Given the description of an element on the screen output the (x, y) to click on. 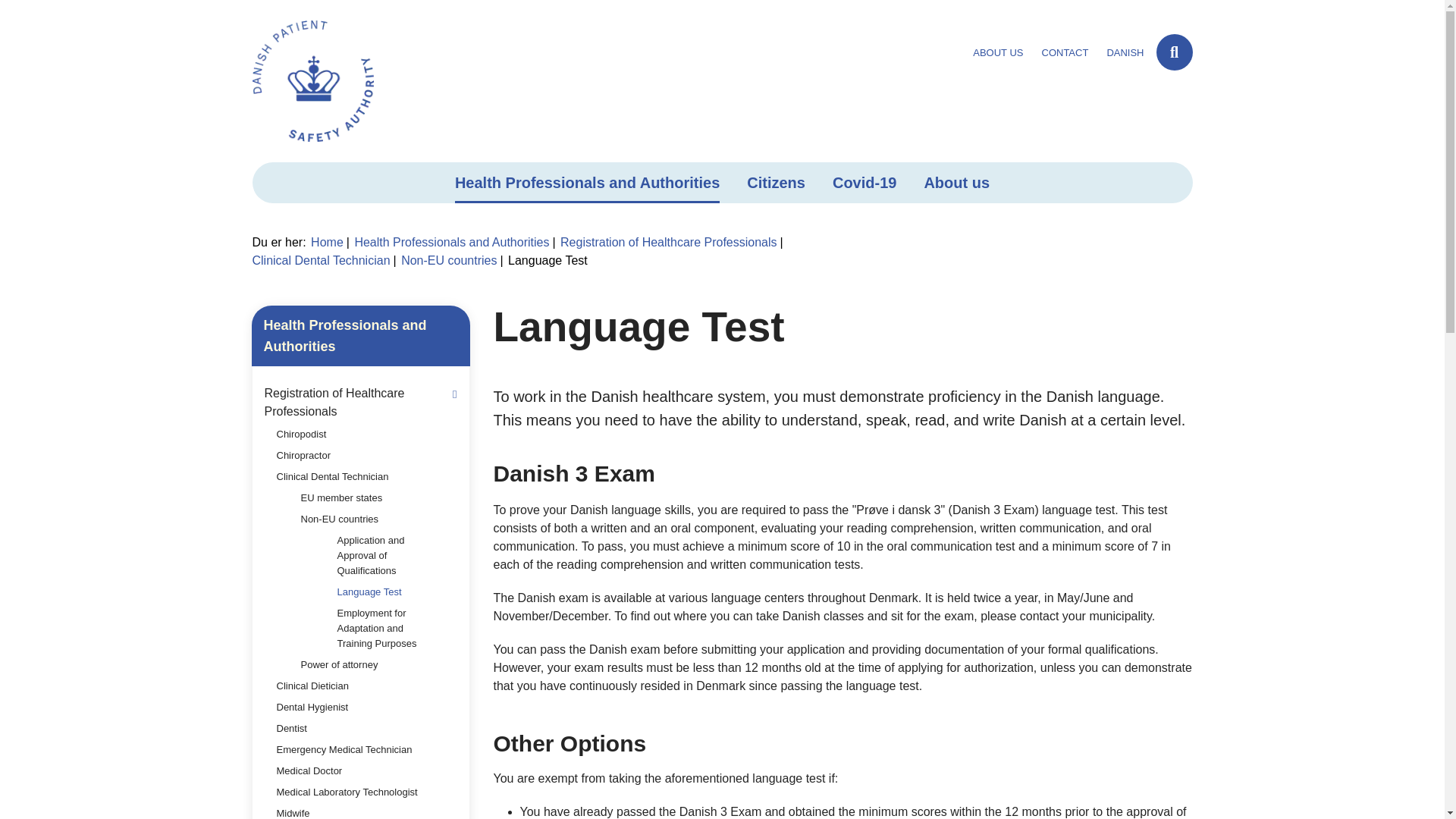
About us (956, 182)
Application and Approval of Qualifications (396, 555)
Clinical Dental Technician (323, 259)
Home (330, 241)
DANISH (1124, 52)
Registration of Healthcare Professionals (671, 241)
Clinical Dental Technician (341, 476)
Health Professionals and Authorities (453, 241)
EU member states (349, 497)
Covid-19 (864, 182)
ABOUT US (997, 52)
Non-EU countries (451, 259)
Health Professionals and Authorities (586, 182)
CONTACT (1065, 52)
Chiropodist (309, 434)
